Given the description of an element on the screen output the (x, y) to click on. 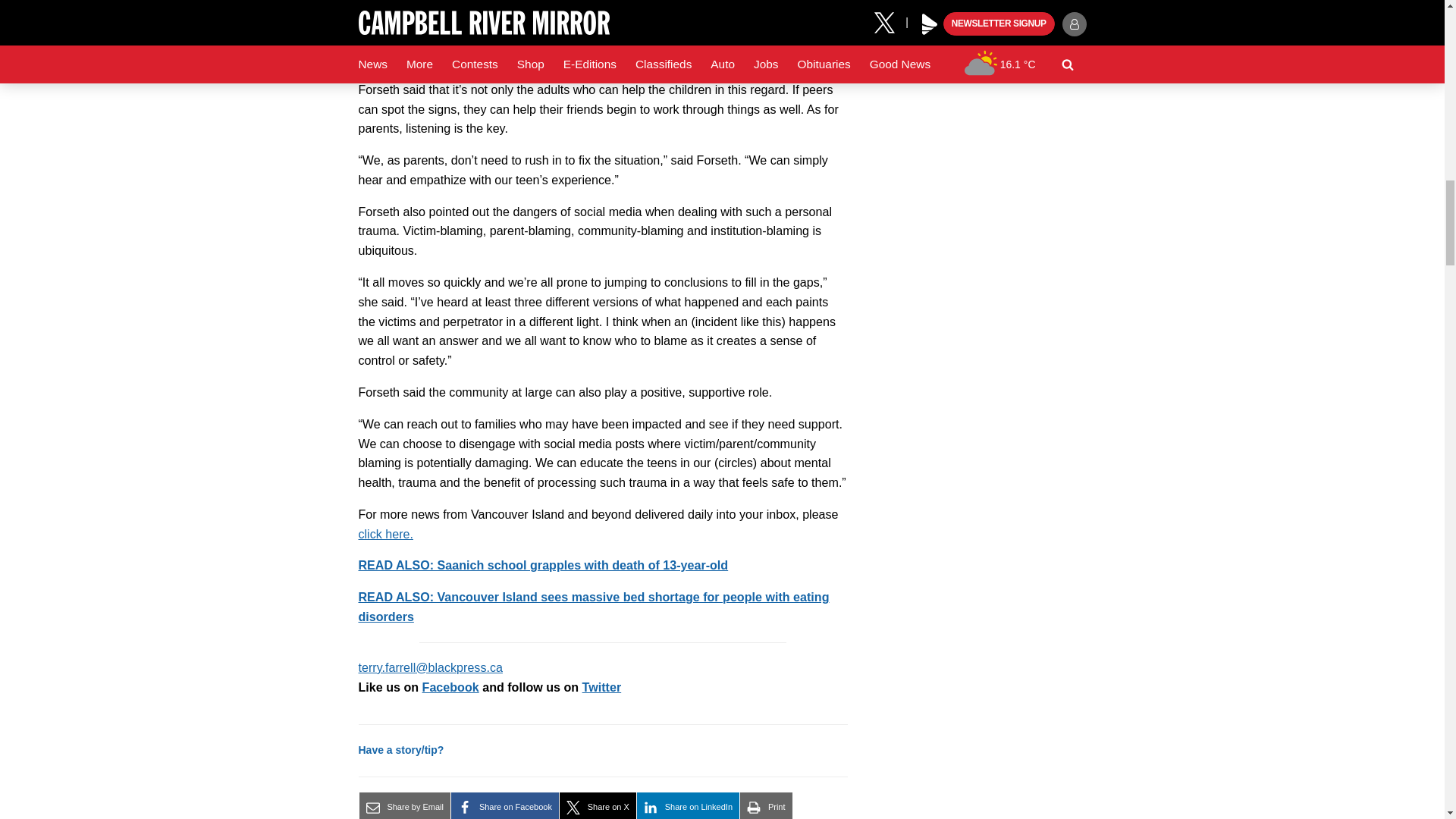
related story (543, 564)
related story (593, 606)
more information (385, 533)
